Given the description of an element on the screen output the (x, y) to click on. 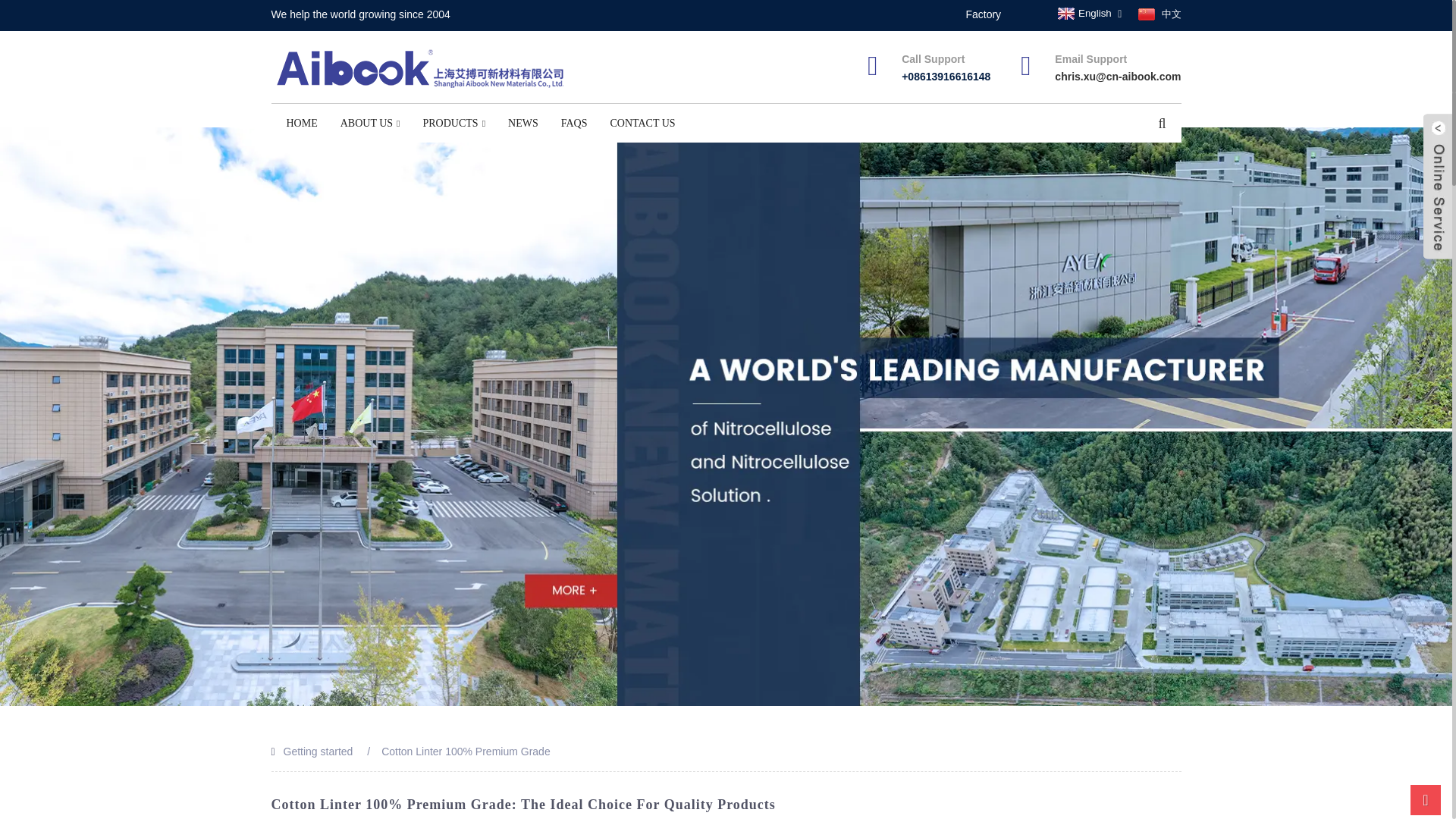
Getting started (318, 751)
English (1083, 13)
Factory (983, 14)
FAQS (574, 123)
PRODUCTS (453, 123)
NEWS (523, 123)
Chinese (1157, 14)
HOME (302, 123)
CONTACT US (641, 123)
ABOUT US (370, 123)
